Given the description of an element on the screen output the (x, y) to click on. 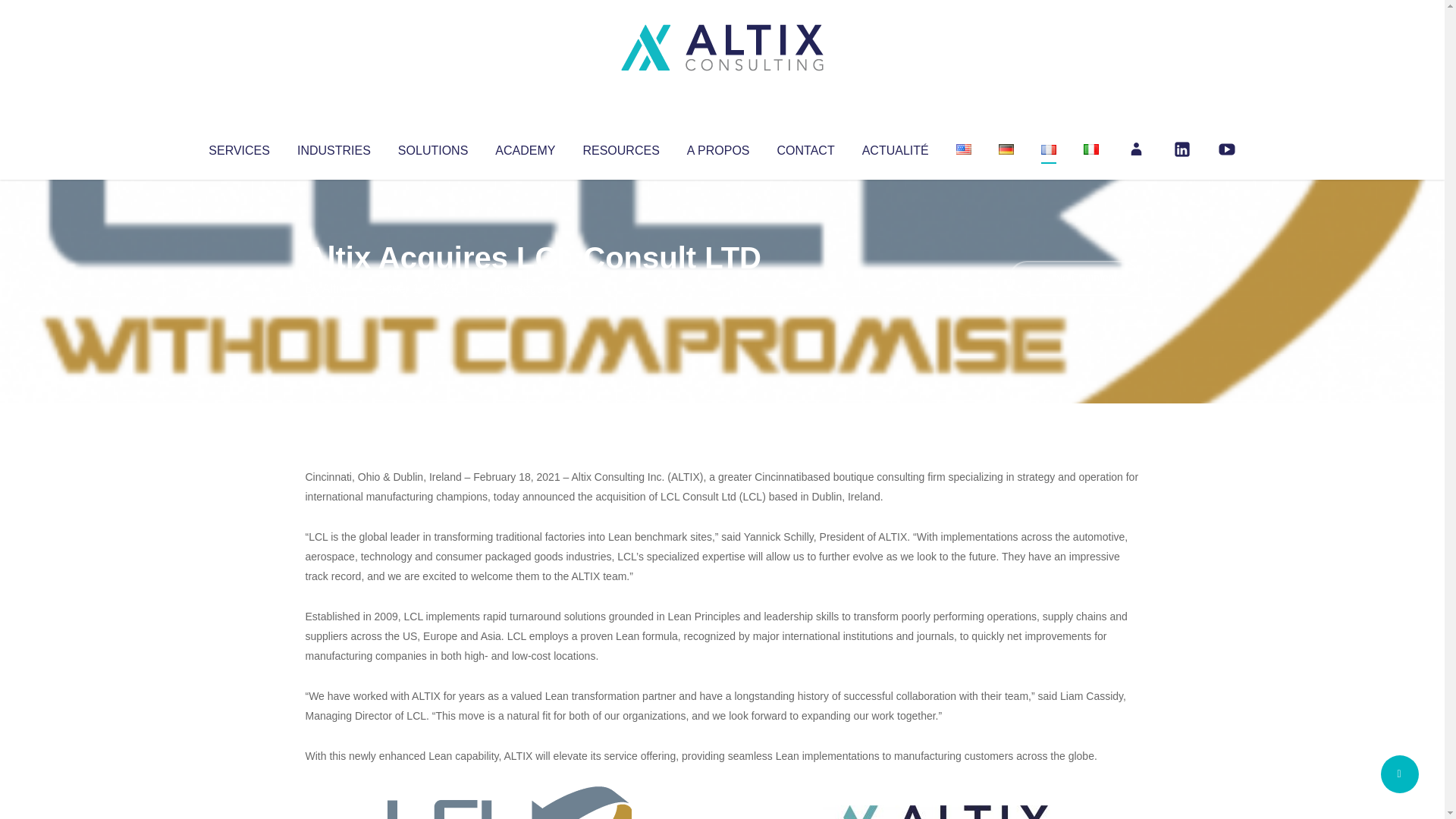
SERVICES (238, 146)
Uncategorized (530, 287)
RESOURCES (620, 146)
No Comments (1073, 278)
Altix (333, 287)
SOLUTIONS (432, 146)
Articles par Altix (333, 287)
A PROPOS (718, 146)
INDUSTRIES (334, 146)
ACADEMY (524, 146)
